Given the description of an element on the screen output the (x, y) to click on. 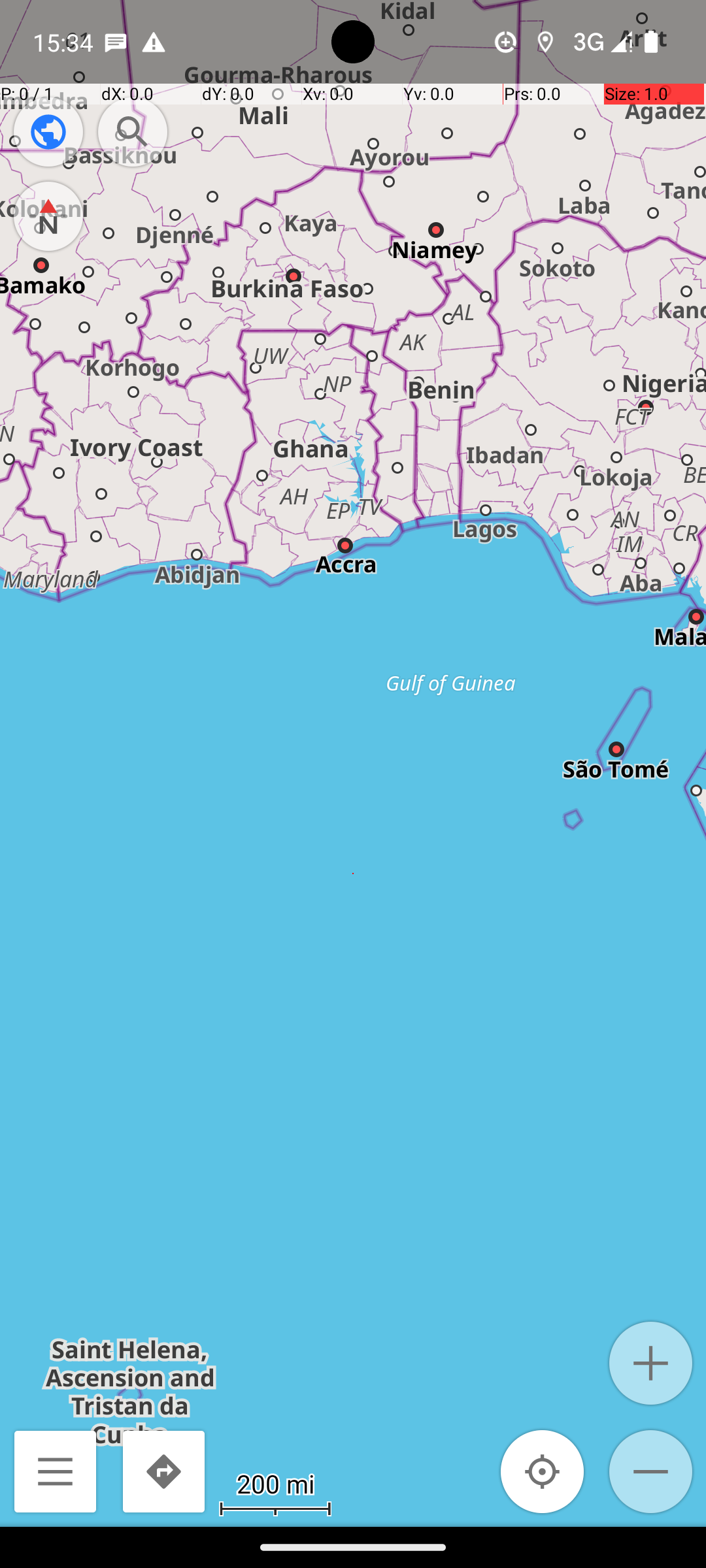
North is up Element type: android.widget.ImageButton (48, 216)
200 mi Element type: android.widget.TextView (274, 1483)
